Given the description of an element on the screen output the (x, y) to click on. 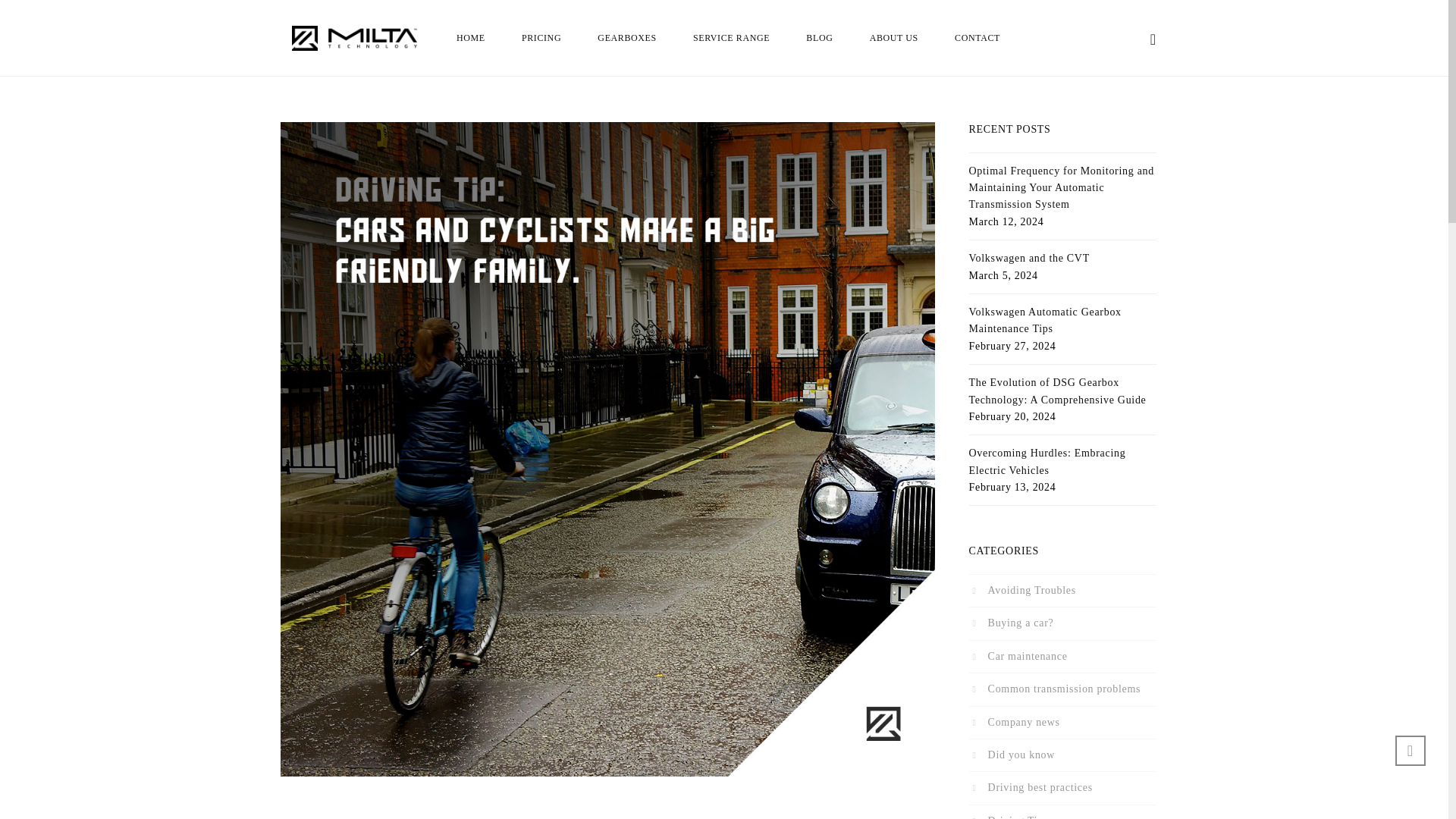
SERVICE RANGE (731, 38)
Go to top (1409, 750)
GEARBOXES (626, 38)
